Given the description of an element on the screen output the (x, y) to click on. 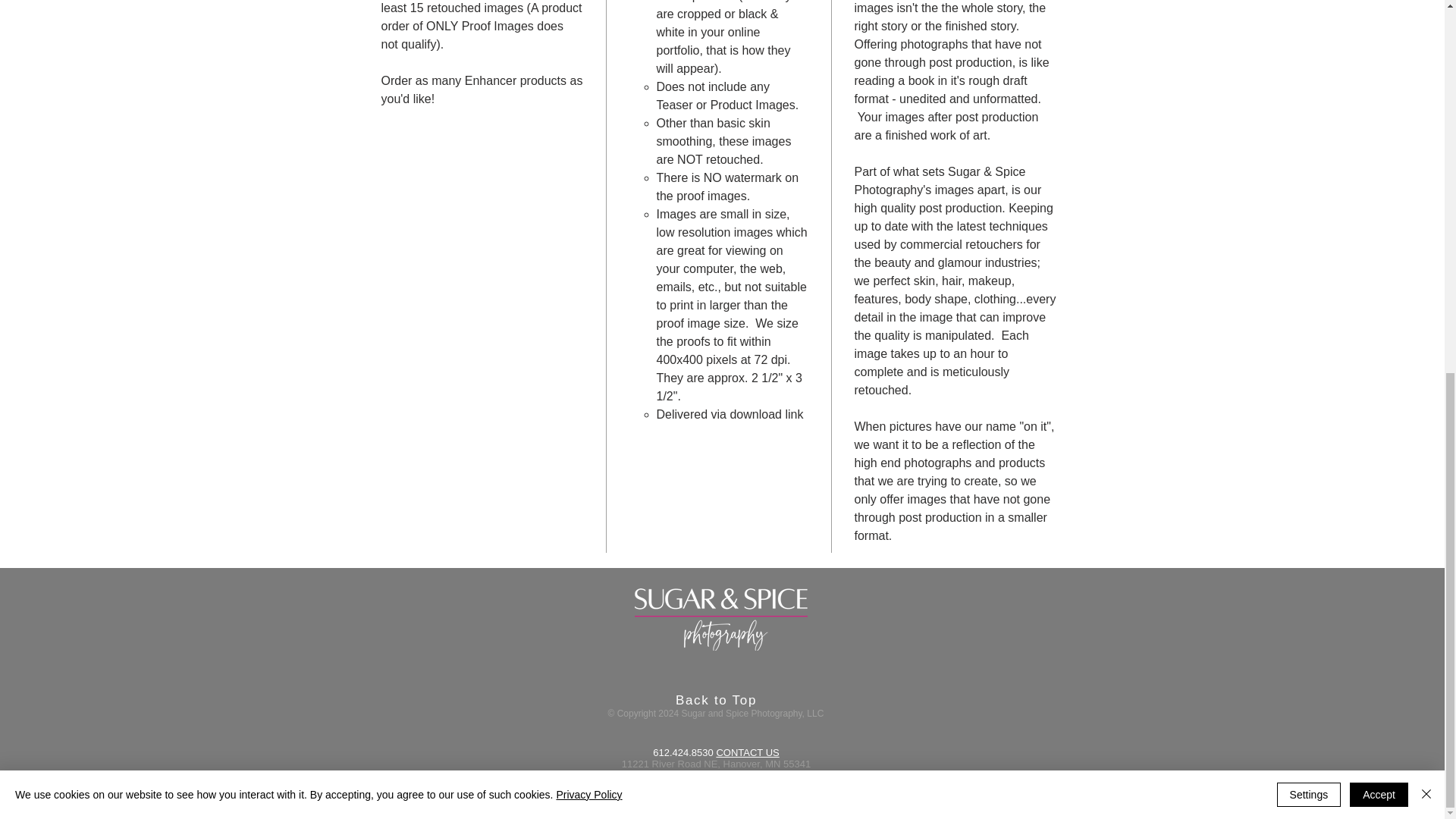
CONTACT US (747, 752)
Back to Top (716, 699)
Privacy Policy (588, 113)
Do Not Sell My Personal Information (713, 804)
Accept (1378, 113)
Settings (1308, 113)
